Given the description of an element on the screen output the (x, y) to click on. 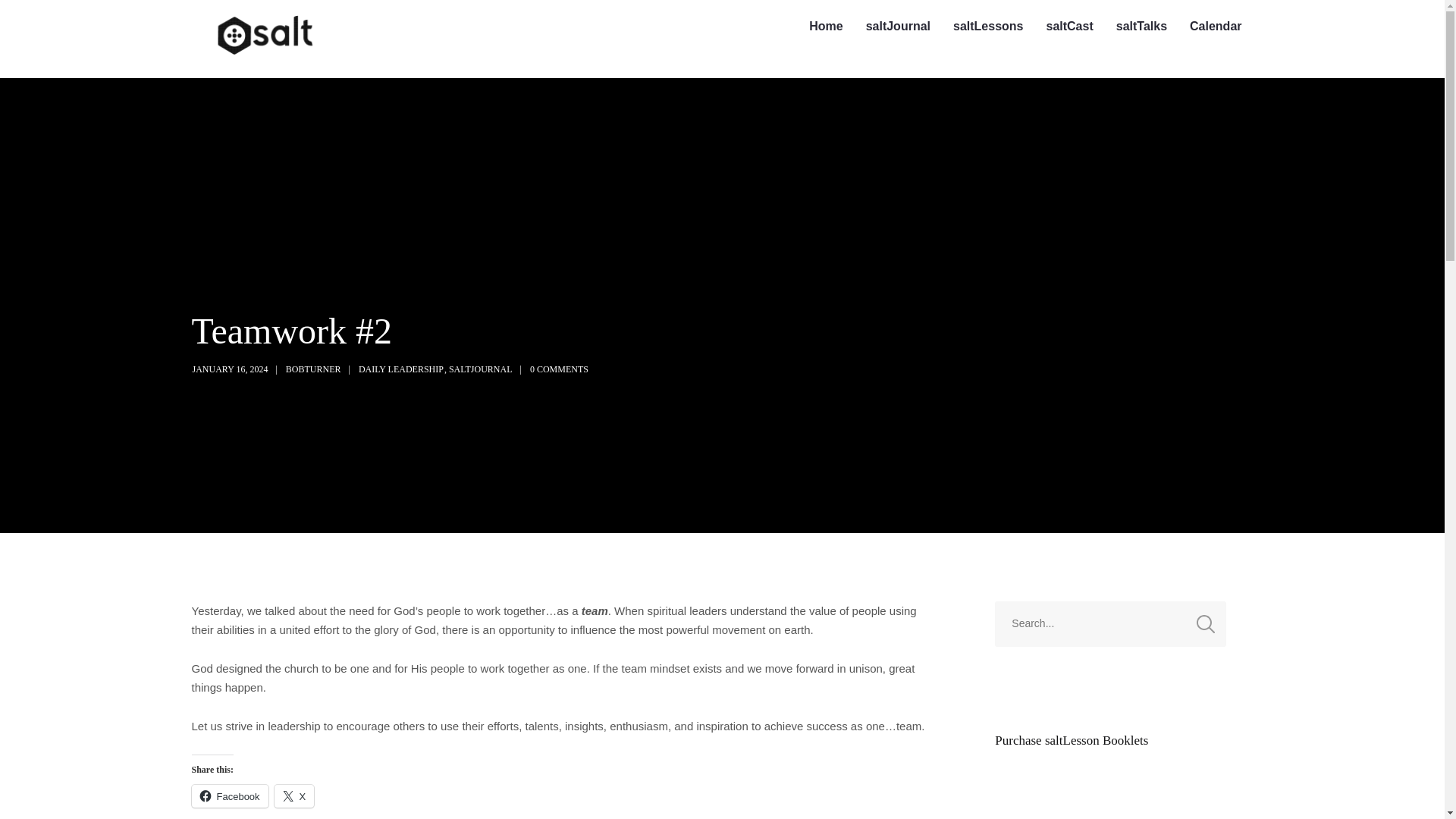
Home (825, 26)
Click to share on Facebook (228, 795)
saltJournal (898, 26)
Facebook (228, 795)
BOBTURNER (312, 368)
Click to share on X (294, 795)
DAILY LEADERSHIP (401, 368)
saltTalks (1141, 26)
0 COMMENTS (558, 368)
Purchase saltLesson Booklets (1071, 740)
Calendar (1214, 26)
saltLessons (987, 26)
SALTJOURNAL (480, 368)
Submit (31, 22)
saltCast (1068, 26)
